Given the description of an element on the screen output the (x, y) to click on. 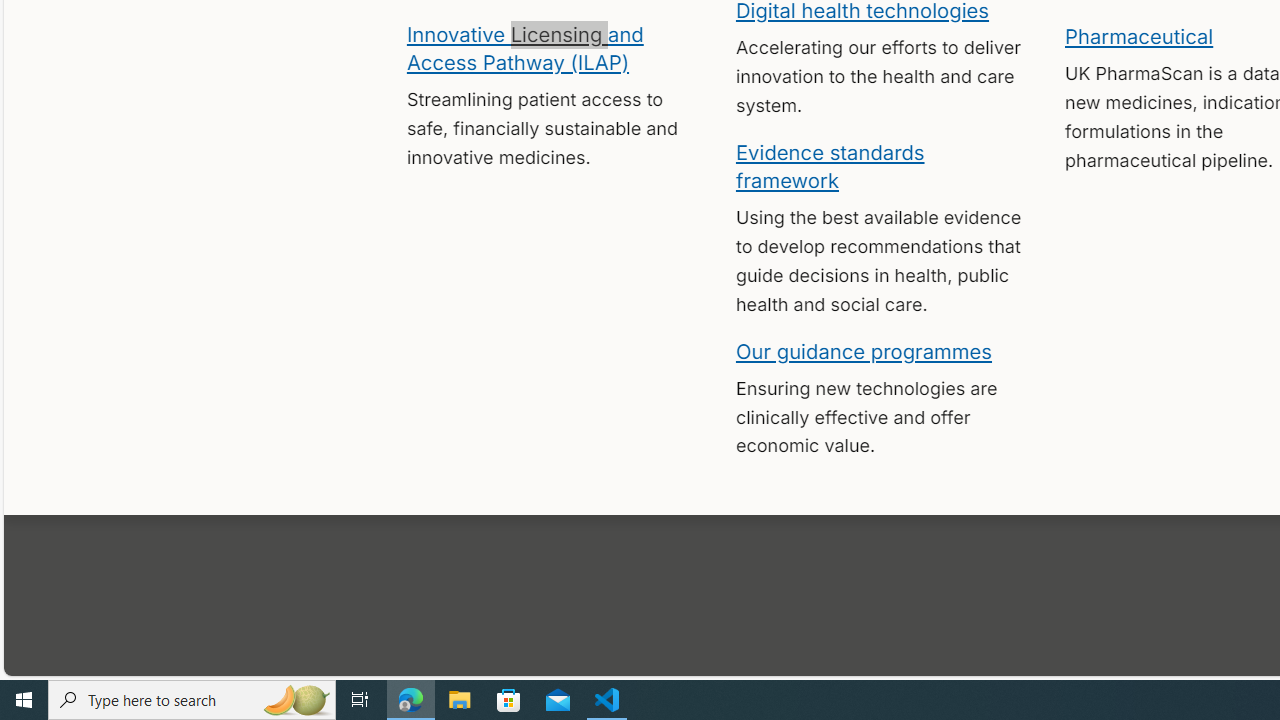
Pharmaceutical (1138, 35)
Evidence standards framework (829, 165)
Innovative Licensing and Access Pathway (ILAP) (524, 47)
Our guidance programmes (863, 350)
